Given the description of an element on the screen output the (x, y) to click on. 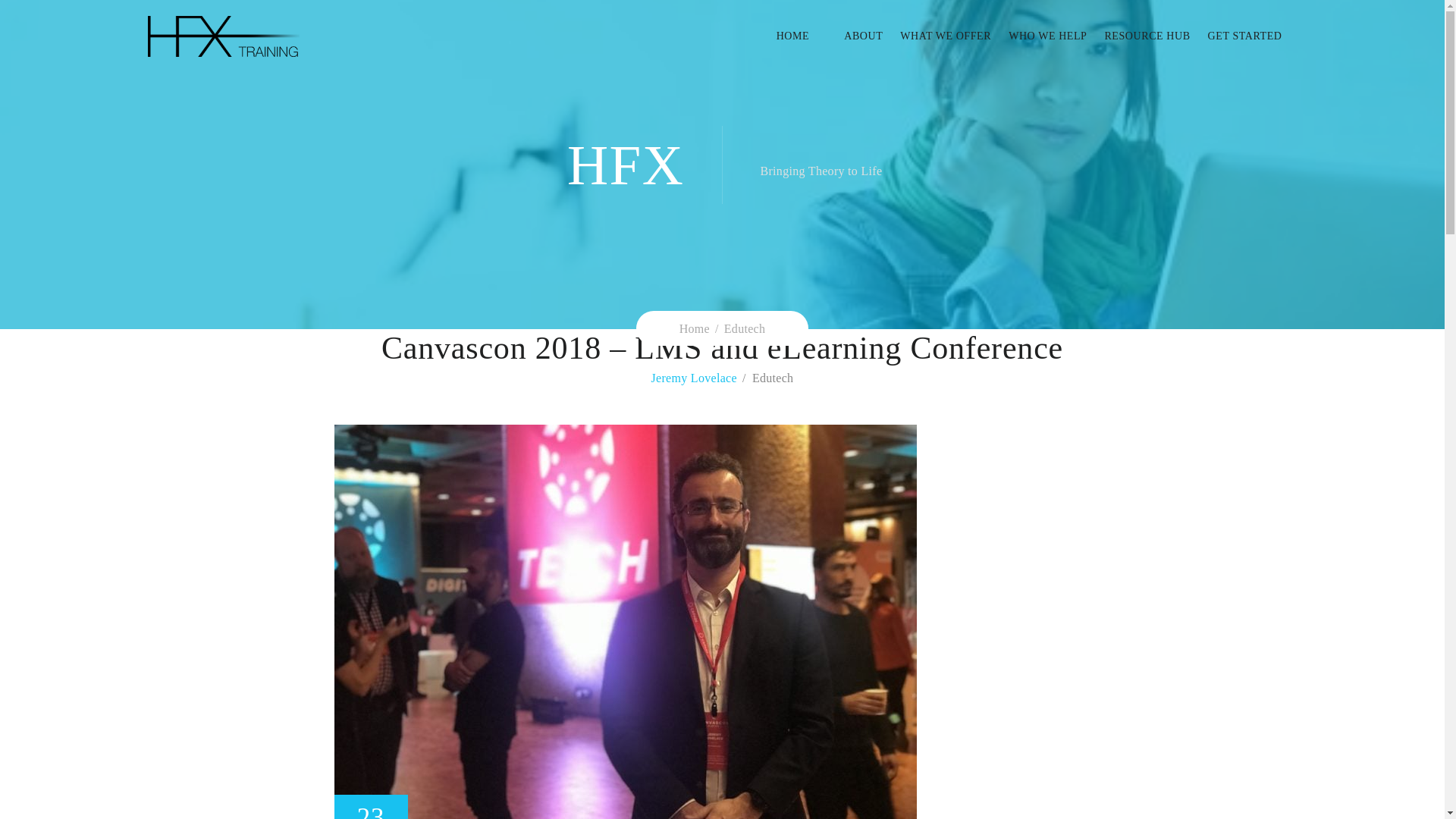
ABOUT (854, 36)
WHAT WE OFFER (936, 36)
RESOURCE HUB (1137, 36)
HFX Training - Bringing Theory to Life (222, 35)
Home (694, 328)
WHO WE HELP (1038, 36)
Edutech (744, 328)
HOME (801, 36)
GET STARTED (1236, 36)
